Given the description of an element on the screen output the (x, y) to click on. 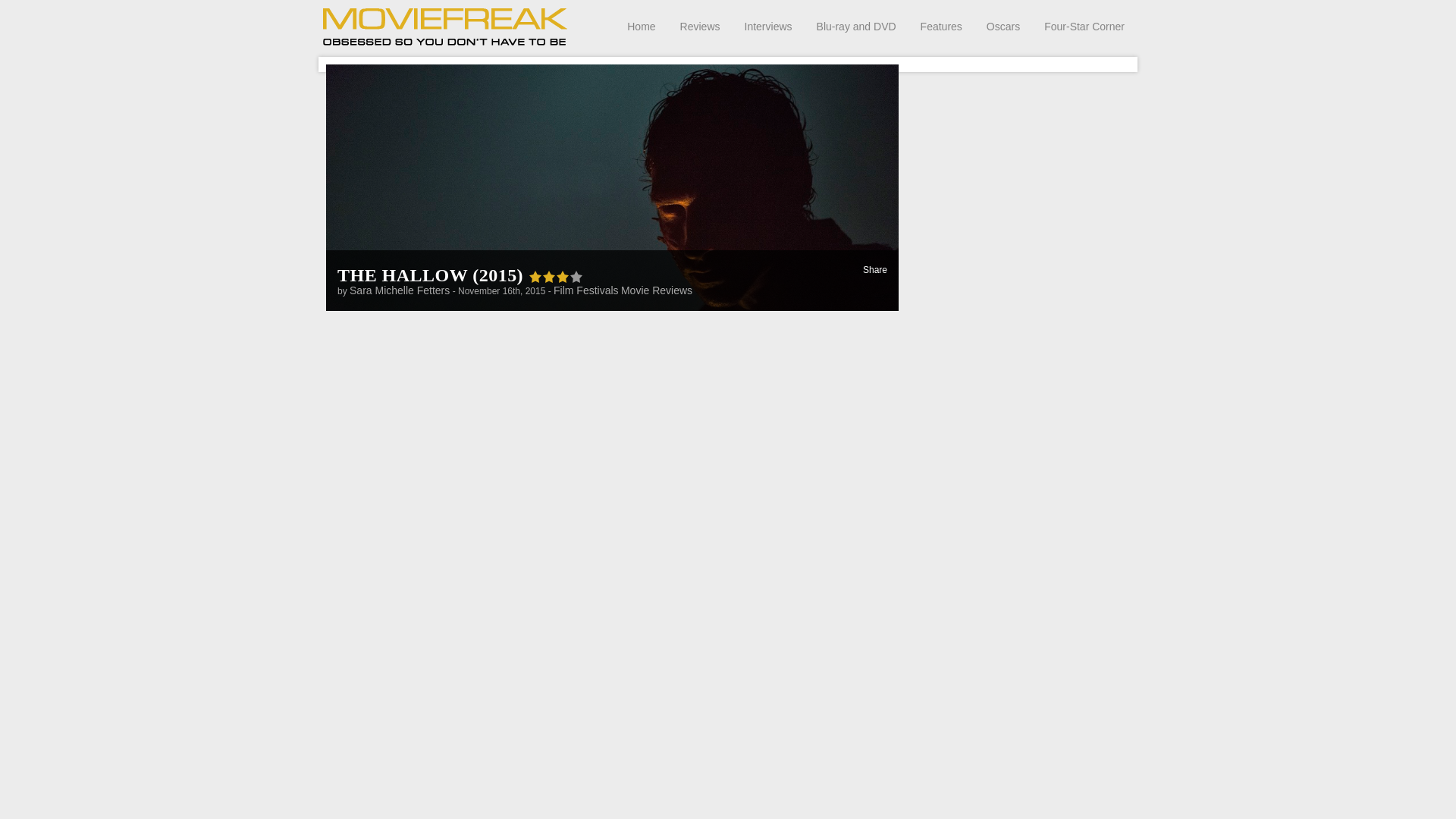
Movie Reviews (657, 290)
Reviews (699, 26)
Four-Star Corner (1083, 26)
Film Festivals (585, 290)
Features (941, 26)
Interviews (768, 26)
Oscars (1003, 26)
Posts by Sara Michelle Fetters (399, 290)
Sara Michelle Fetters (399, 290)
Blu-ray and DVD (856, 26)
